Given the description of an element on the screen output the (x, y) to click on. 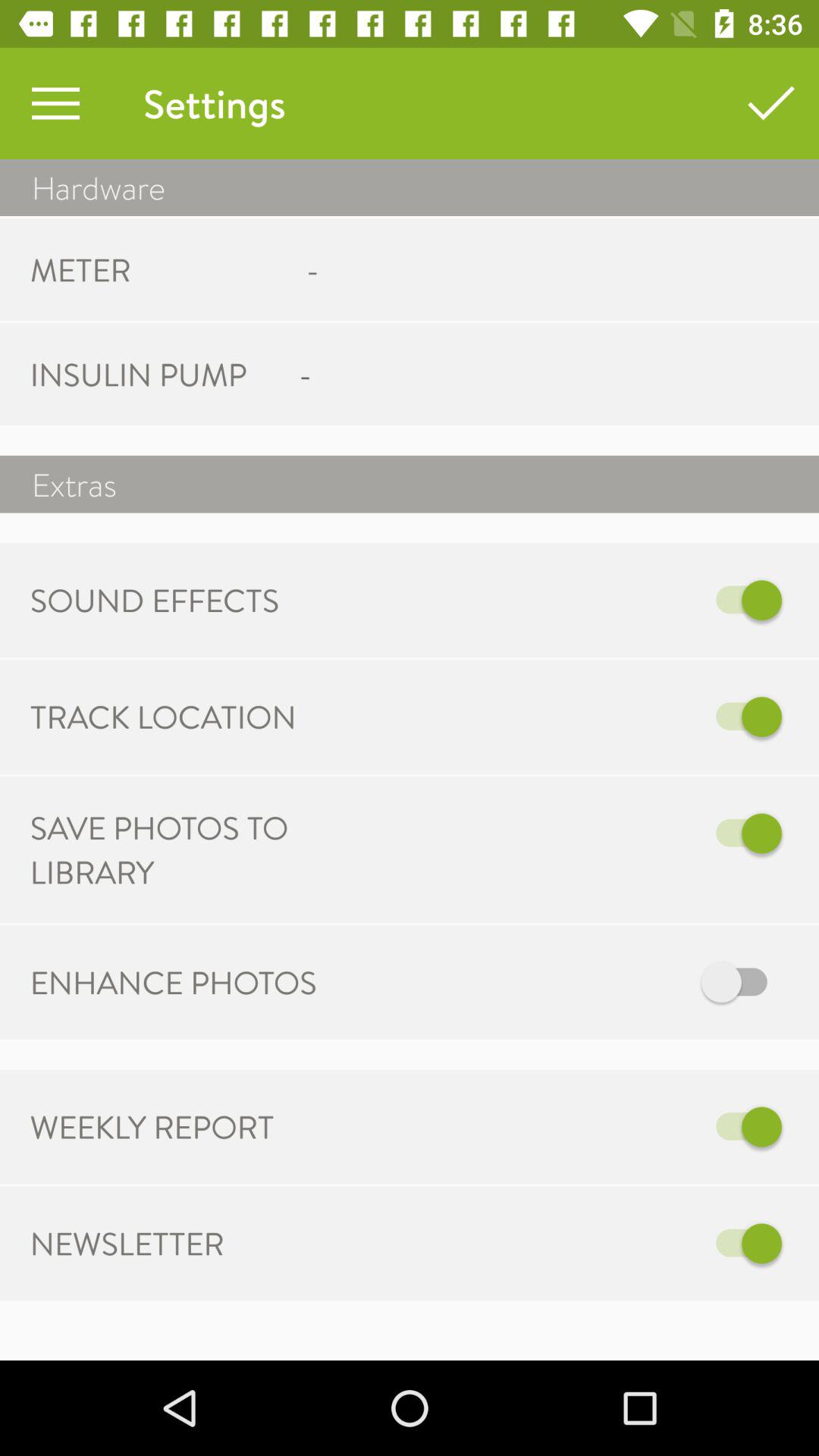
press the icon to the right of enhance photos item (566, 982)
